Given the description of an element on the screen output the (x, y) to click on. 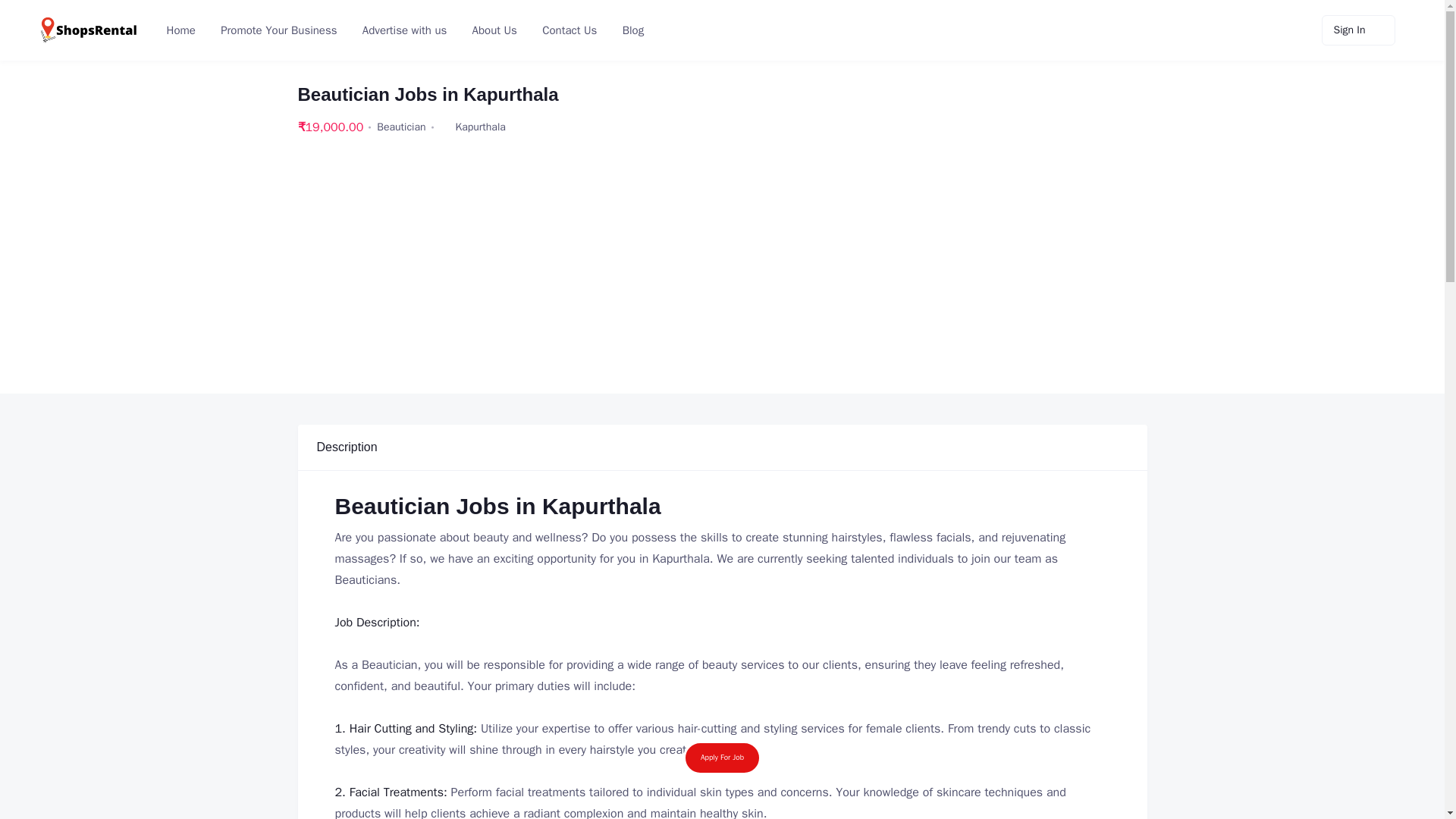
Home (179, 30)
Promote Your Business (277, 30)
Beautician (401, 127)
Blog (631, 30)
About Us (493, 30)
Contact Us (568, 30)
Kapurthala (480, 126)
Advertise with us (403, 30)
Sign In (1358, 30)
